Given the description of an element on the screen output the (x, y) to click on. 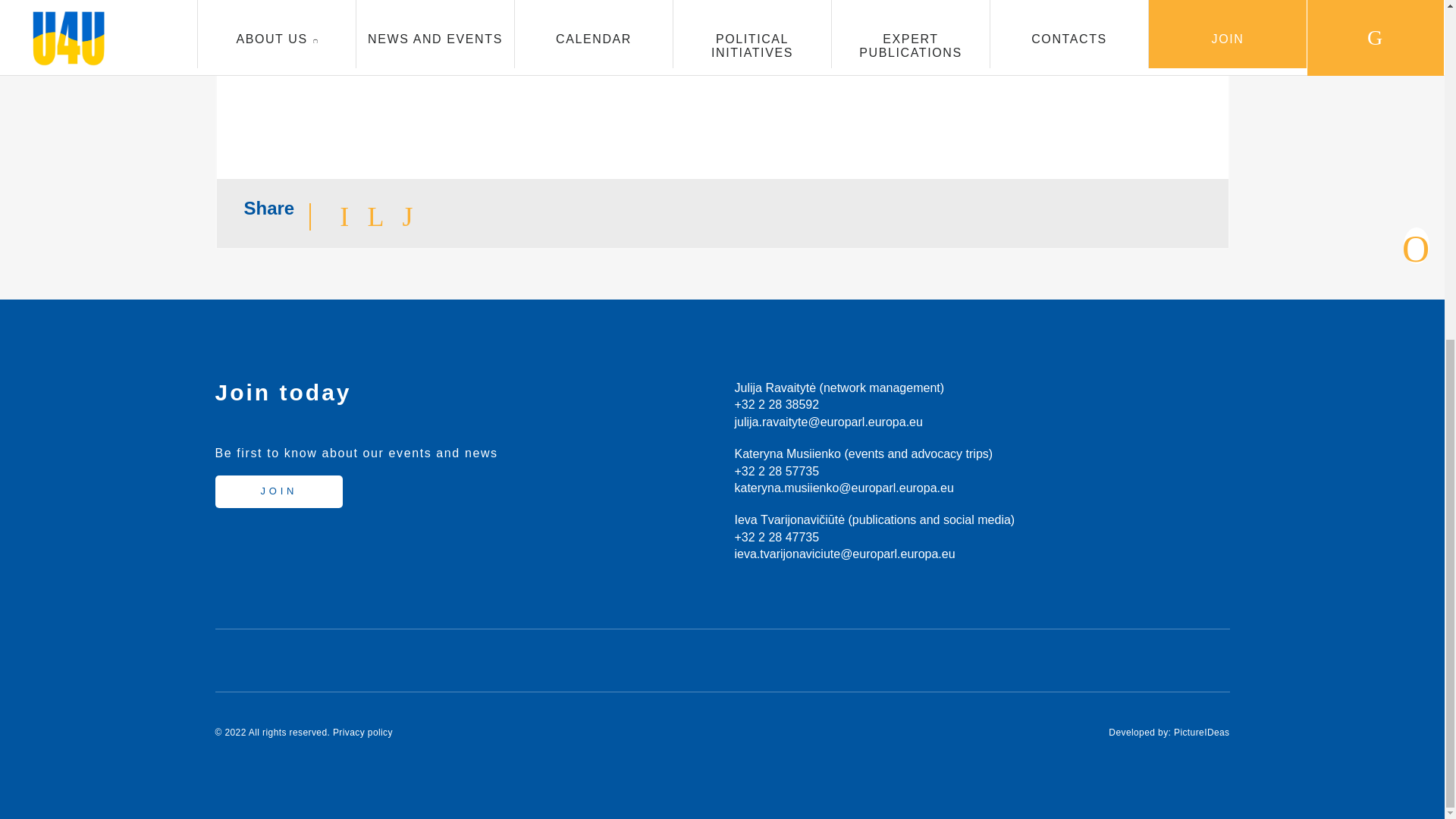
JOIN (279, 491)
Privacy policy (363, 733)
